Given the description of an element on the screen output the (x, y) to click on. 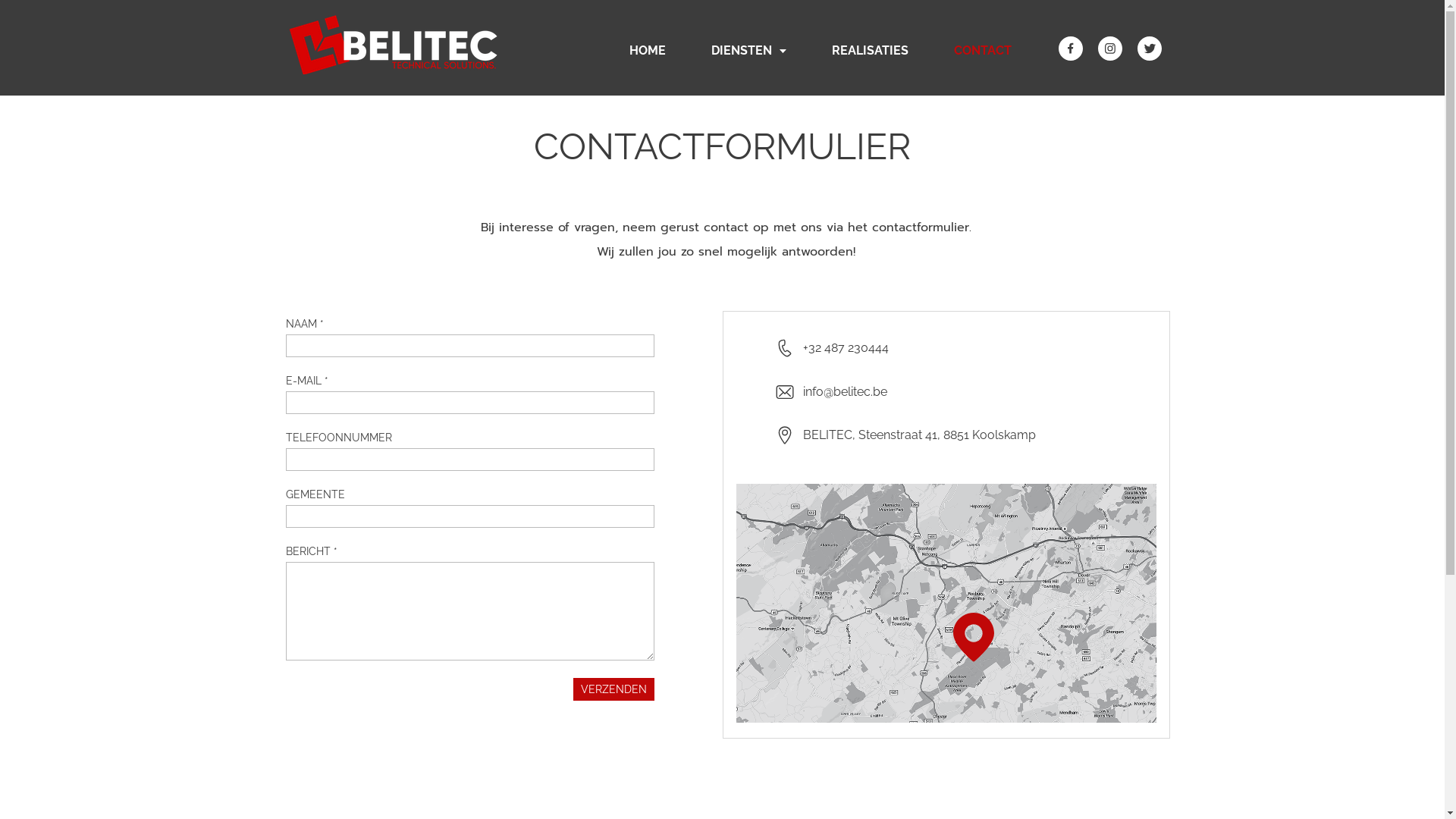
REALISATIES Element type: text (869, 50)
info@belitec.be Element type: text (844, 391)
HOME Element type: text (647, 50)
DIENSTEN Element type: text (748, 50)
BELITEC, Steenstraat 41, 8851 Koolskamp Element type: text (918, 434)
CONTACT Element type: text (982, 50)
VERZENDEN Element type: text (613, 688)
  Element type: text (945, 490)
+32 487 230444 Element type: text (845, 347)
